Given the description of an element on the screen output the (x, y) to click on. 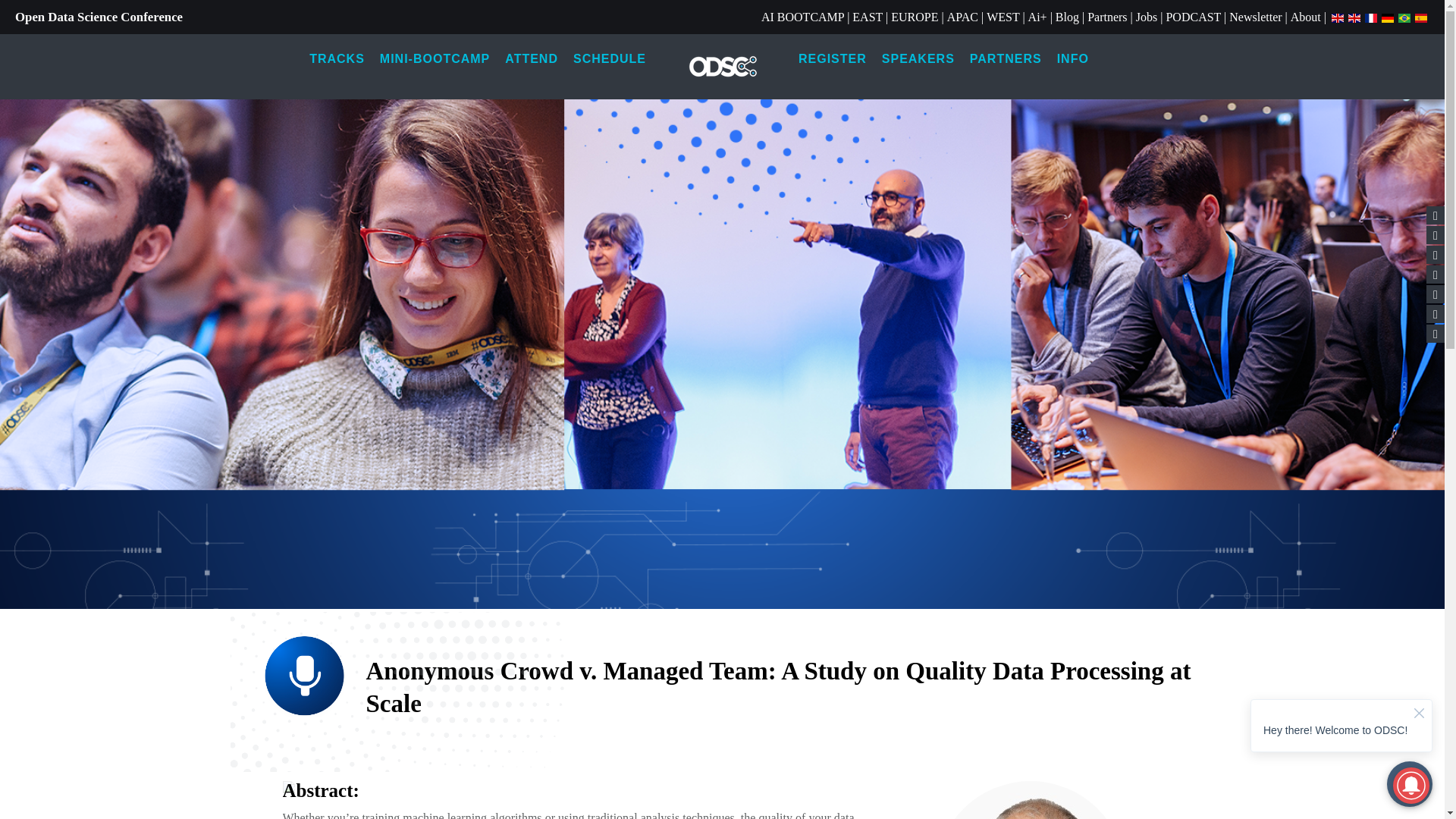
EAST (866, 16)
MINI-BOOTCAMP (434, 59)
Jobs (1146, 16)
Blog (1066, 16)
About (1305, 16)
French (1370, 16)
TRACKS (336, 59)
APAC (962, 16)
PODCAST (1193, 16)
German (1387, 16)
English (1337, 16)
Newsletter (1254, 16)
PODCAST (1193, 16)
APAC (962, 16)
English (1353, 16)
